Given the description of an element on the screen output the (x, y) to click on. 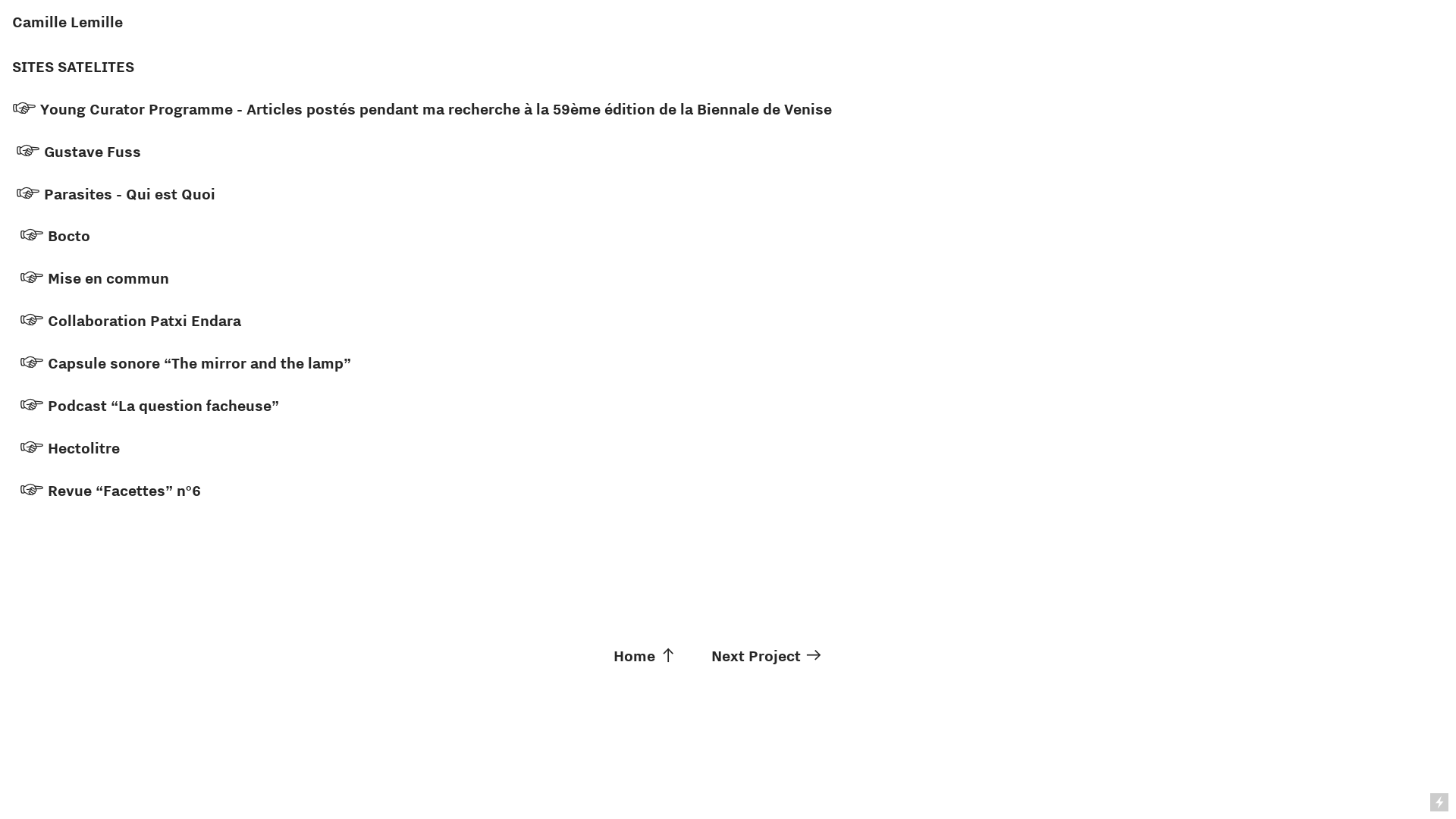
Bocto Element type: text (68, 235)
Camille Lemille Element type: text (67, 21)
Mise en commun  Element type: text (109, 278)
